Given the description of an element on the screen output the (x, y) to click on. 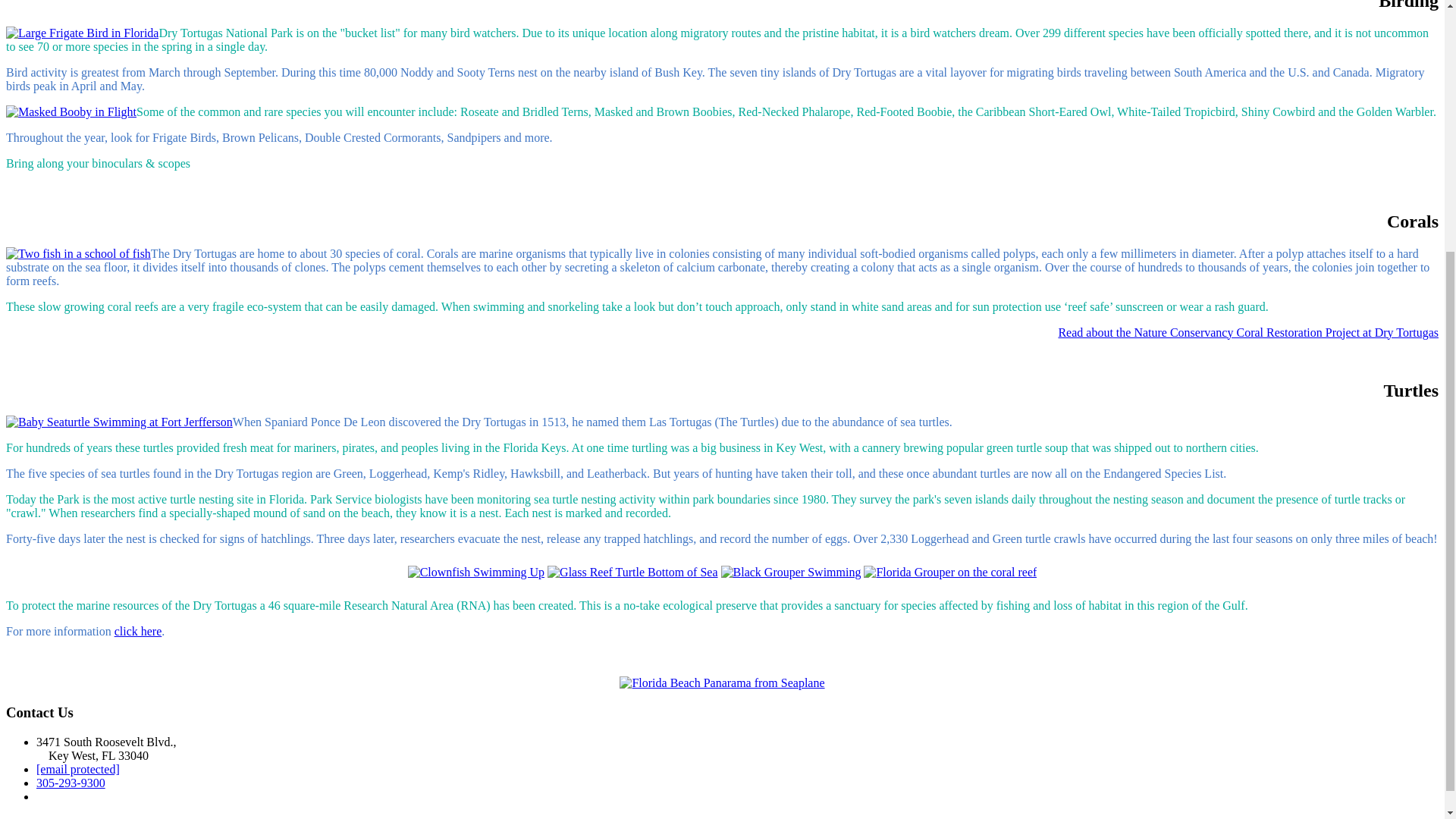
305-293-9300 (70, 782)
click here (138, 631)
